Given the description of an element on the screen output the (x, y) to click on. 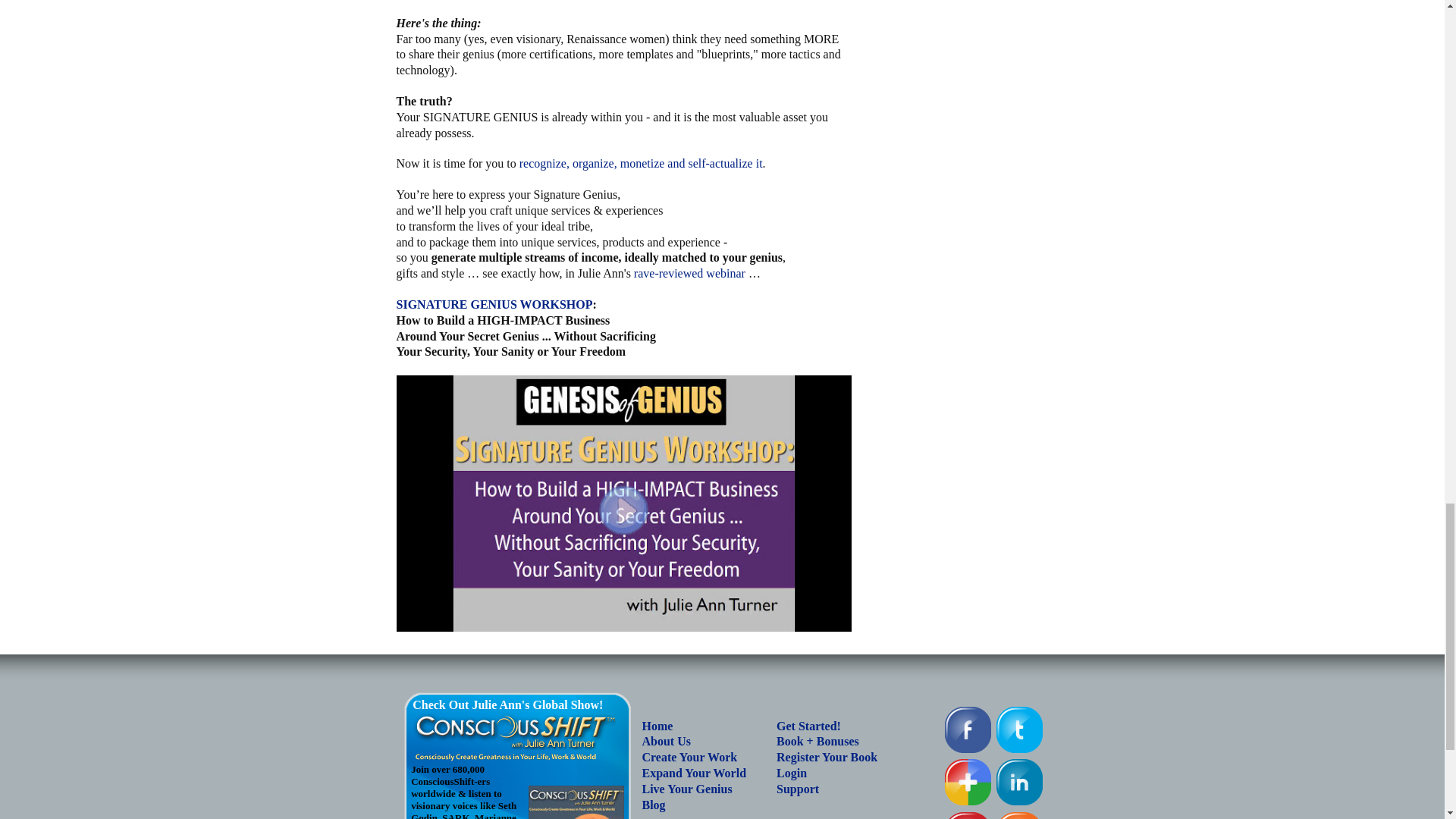
Blog (653, 804)
Get Started! (808, 725)
Create Your Work (689, 757)
SIGNATURE GENIUS WORKSHOP (494, 304)
Expand Your World (693, 772)
rave-reviewed webinar (689, 273)
recognize, organize, monetize and self-actualize it (640, 163)
Home (657, 725)
5ConsciousShifts Webinar (689, 273)
About Us (666, 740)
